Given the description of an element on the screen output the (x, y) to click on. 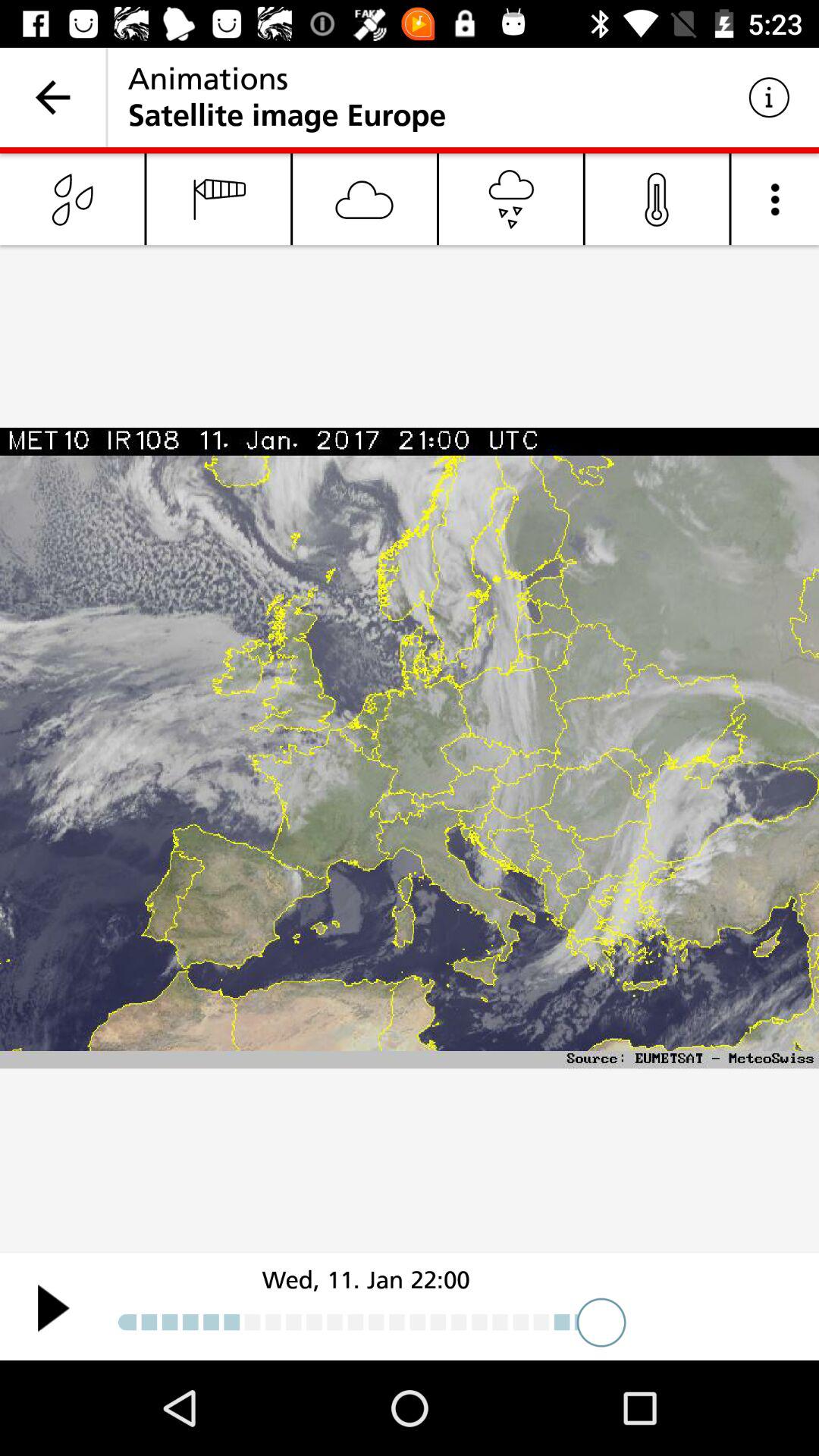
tap item next to the animations item (769, 97)
